Given the description of an element on the screen output the (x, y) to click on. 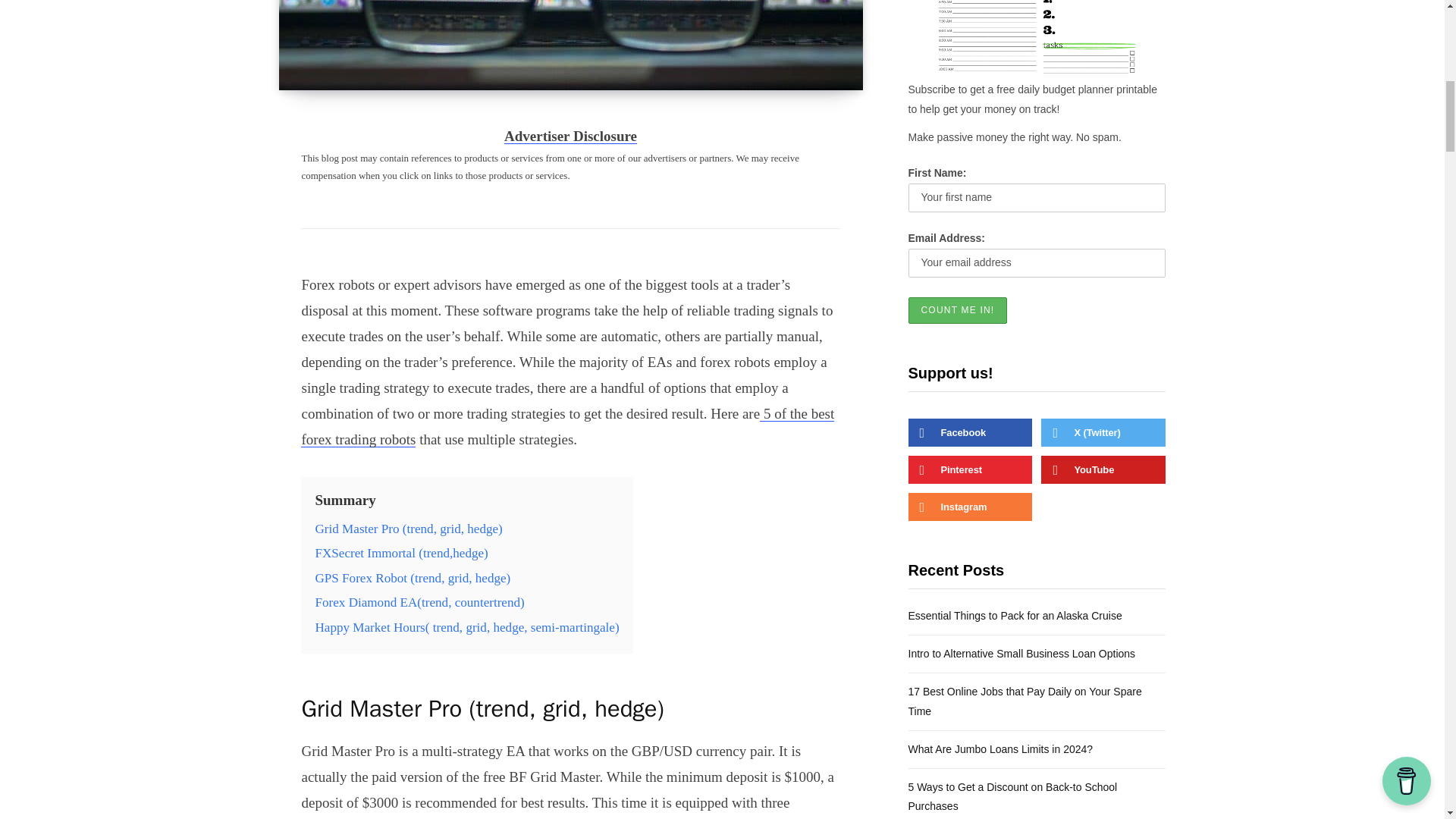
Count me in! (957, 310)
